Given the description of an element on the screen output the (x, y) to click on. 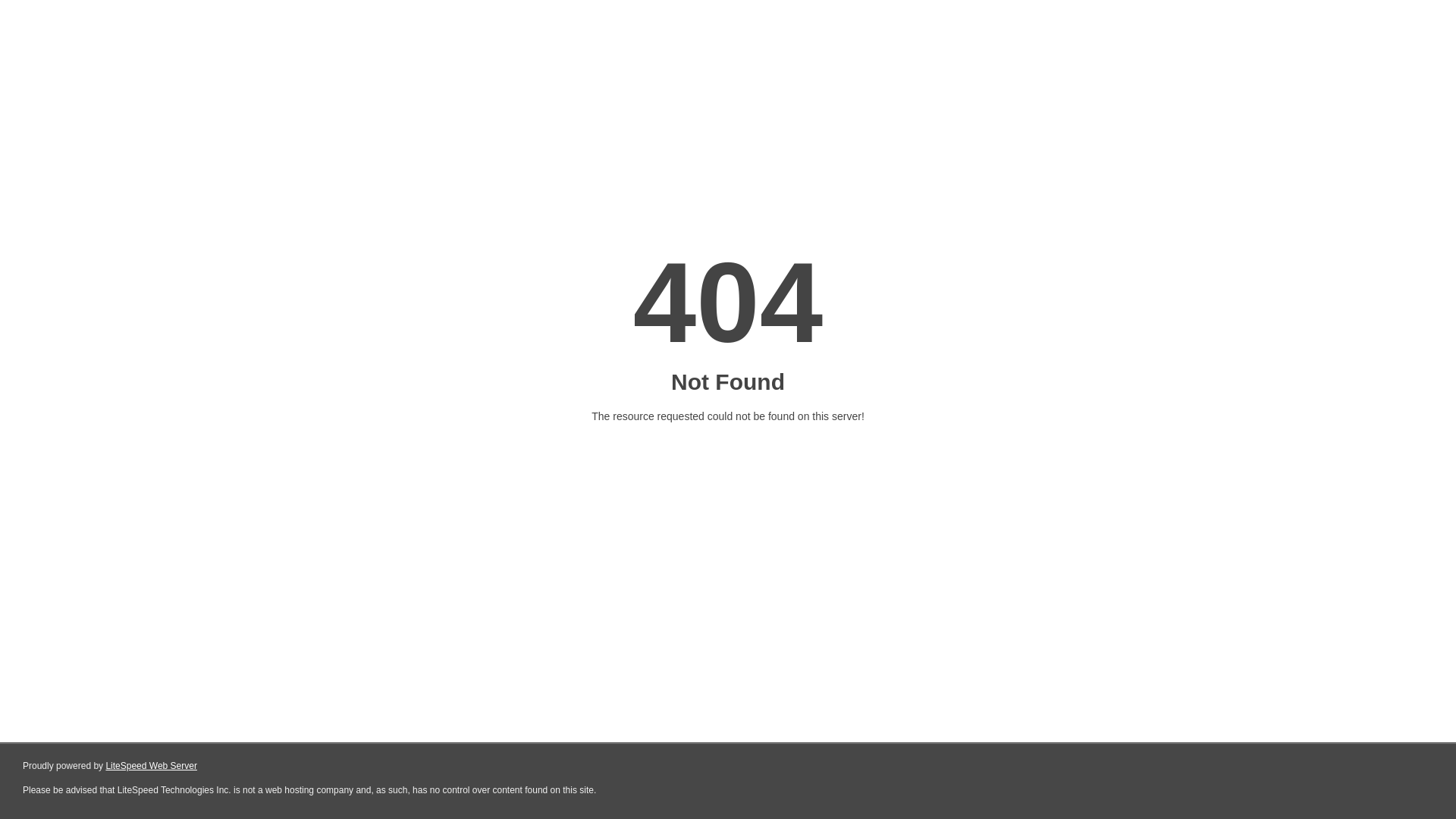
LiteSpeed Web Server Element type: text (151, 765)
